Given the description of an element on the screen output the (x, y) to click on. 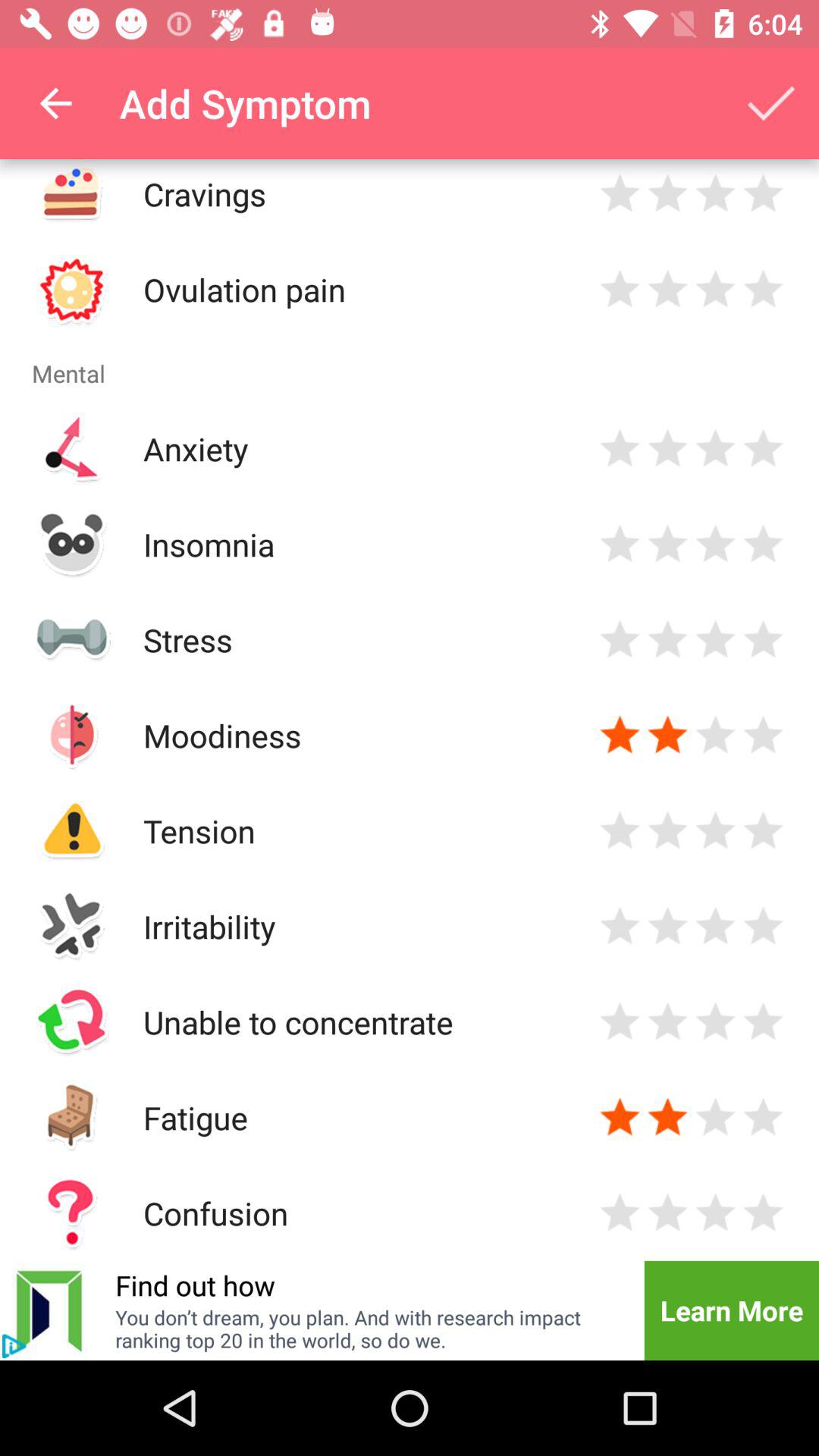
rate by star (715, 639)
